Given the description of an element on the screen output the (x, y) to click on. 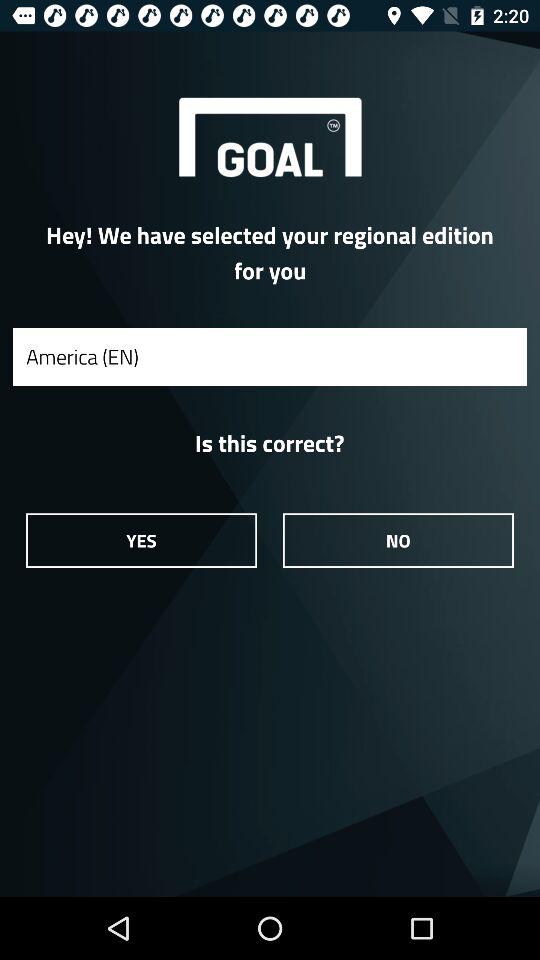
turn off the icon below the is this correct? item (398, 540)
